Given the description of an element on the screen output the (x, y) to click on. 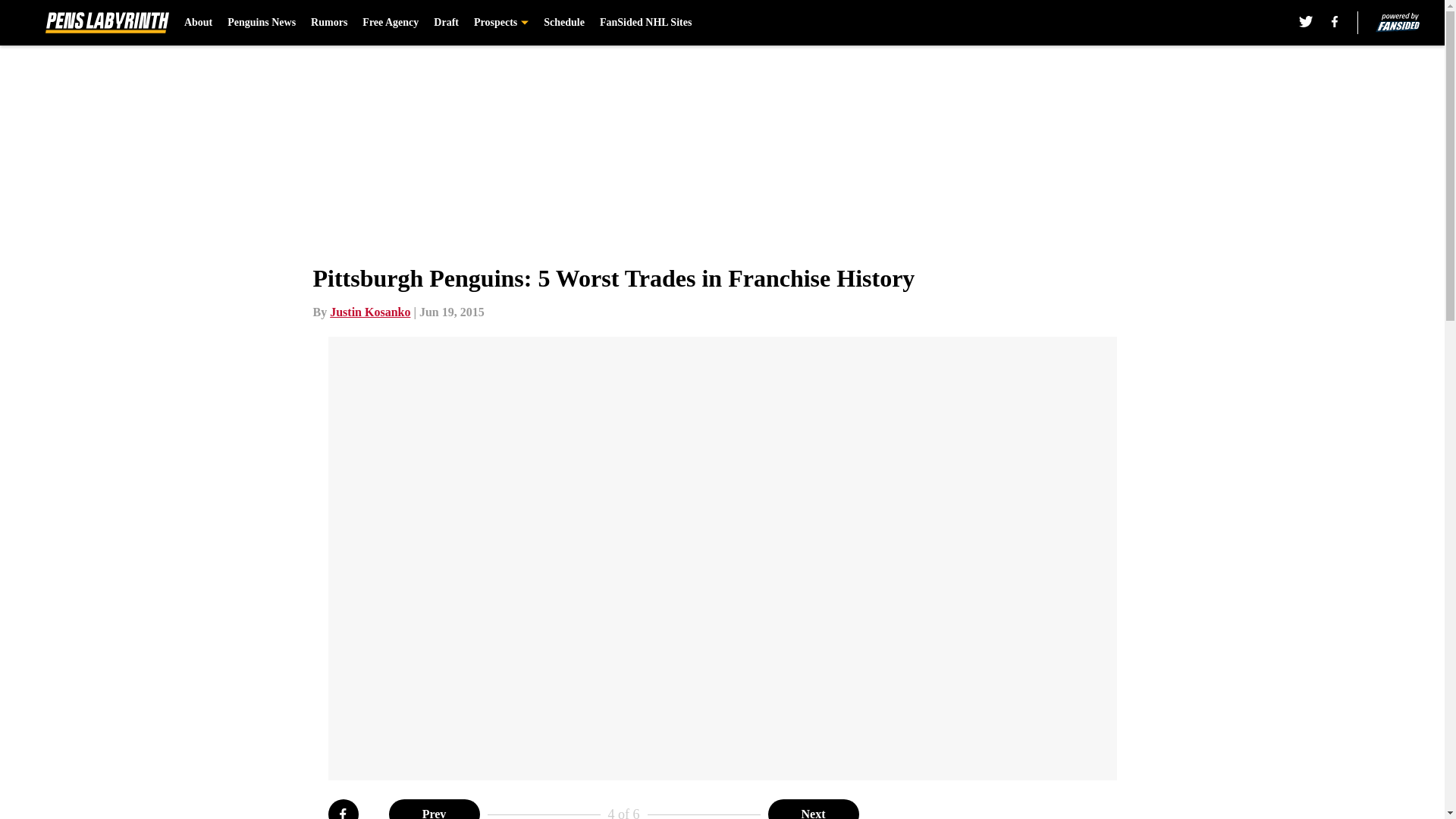
Penguins News (261, 22)
Next (813, 809)
Justin Kosanko (370, 311)
Rumors (329, 22)
FanSided NHL Sites (645, 22)
About (198, 22)
Prev (433, 809)
Schedule (564, 22)
Free Agency (390, 22)
Draft (445, 22)
